Given the description of an element on the screen output the (x, y) to click on. 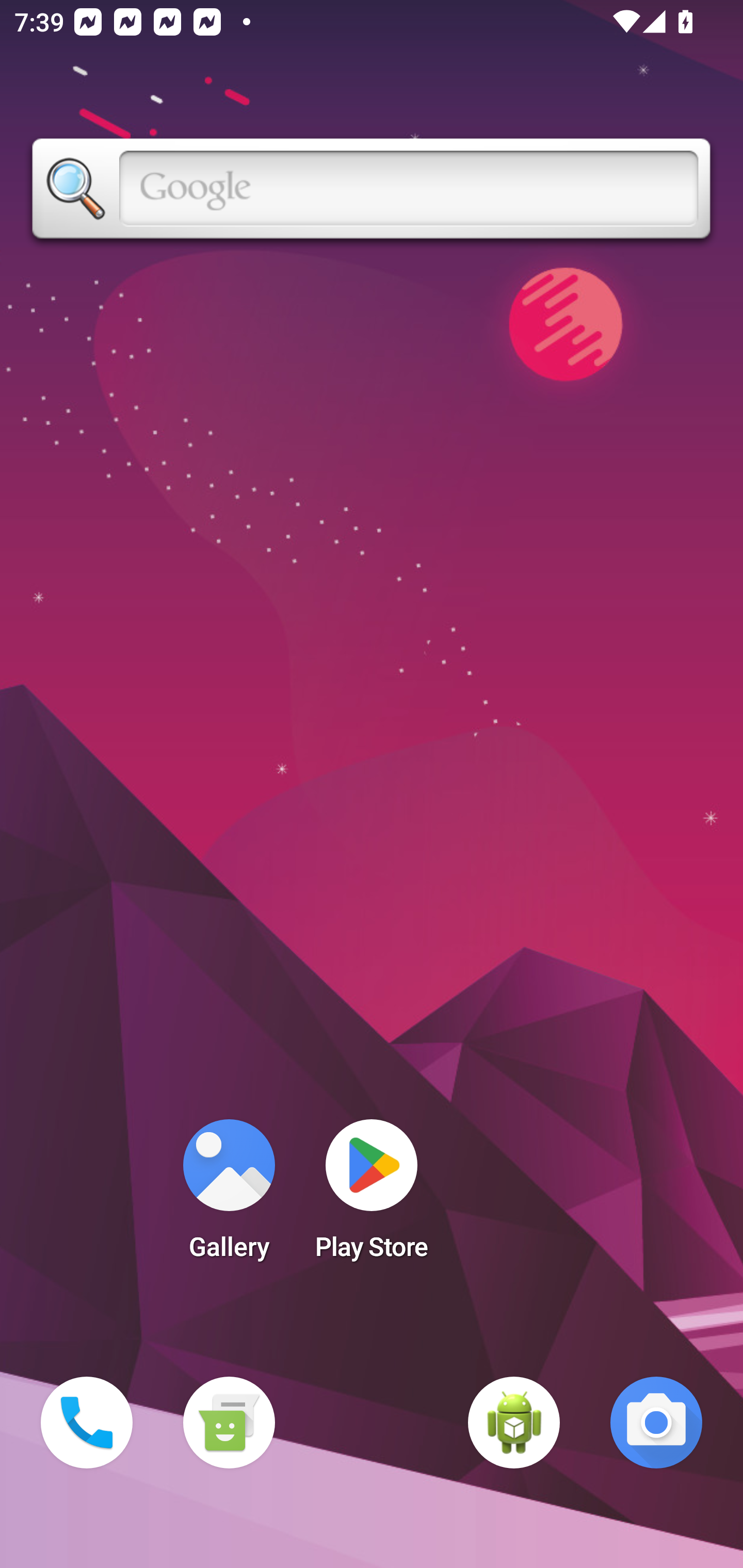
Gallery (228, 1195)
Play Store (371, 1195)
Phone (86, 1422)
Messaging (228, 1422)
WebView Browser Tester (513, 1422)
Camera (656, 1422)
